Given the description of an element on the screen output the (x, y) to click on. 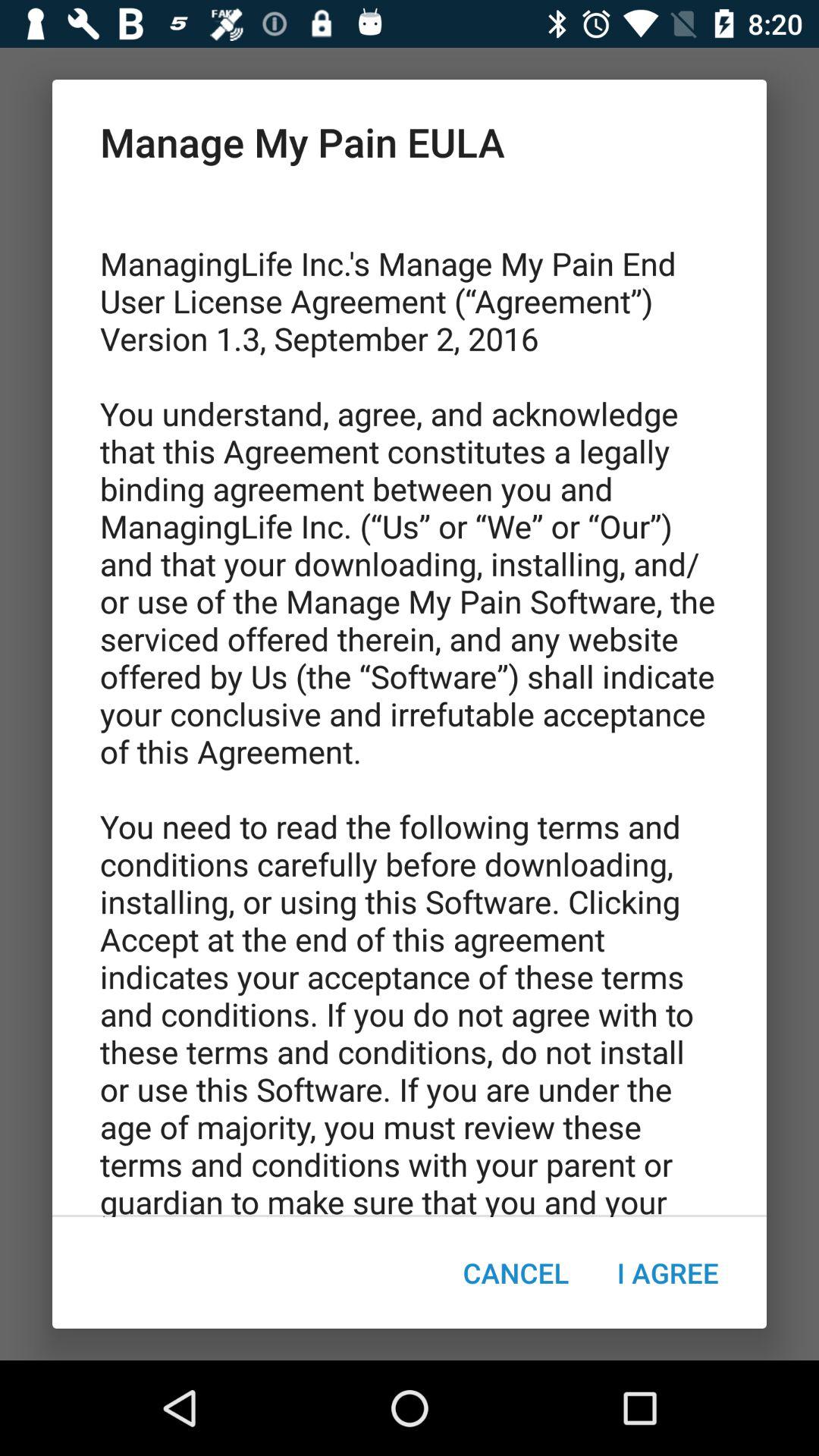
swipe until the i agree item (667, 1272)
